Given the description of an element on the screen output the (x, y) to click on. 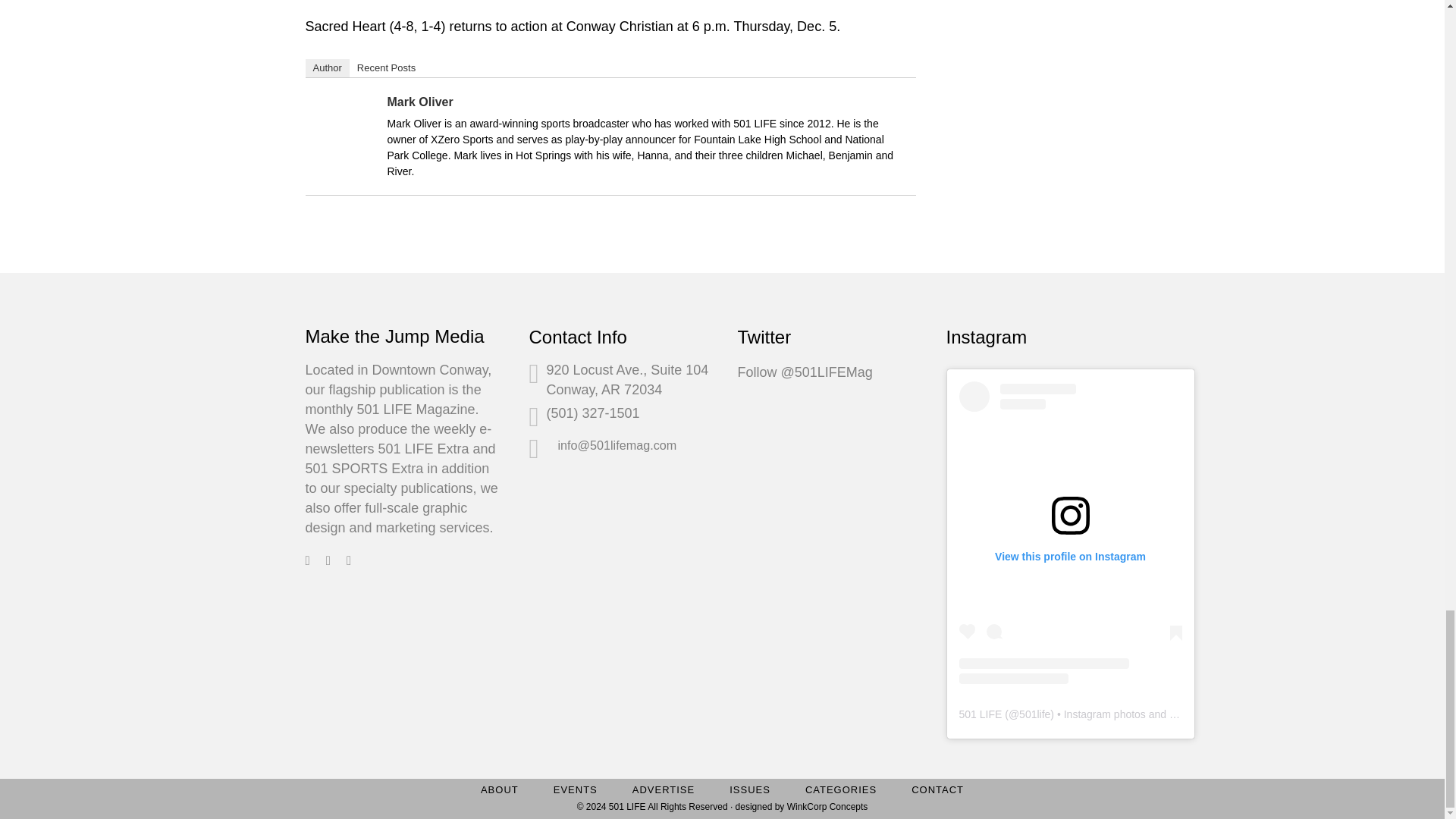
Mark Oliver (344, 156)
